Given the description of an element on the screen output the (x, y) to click on. 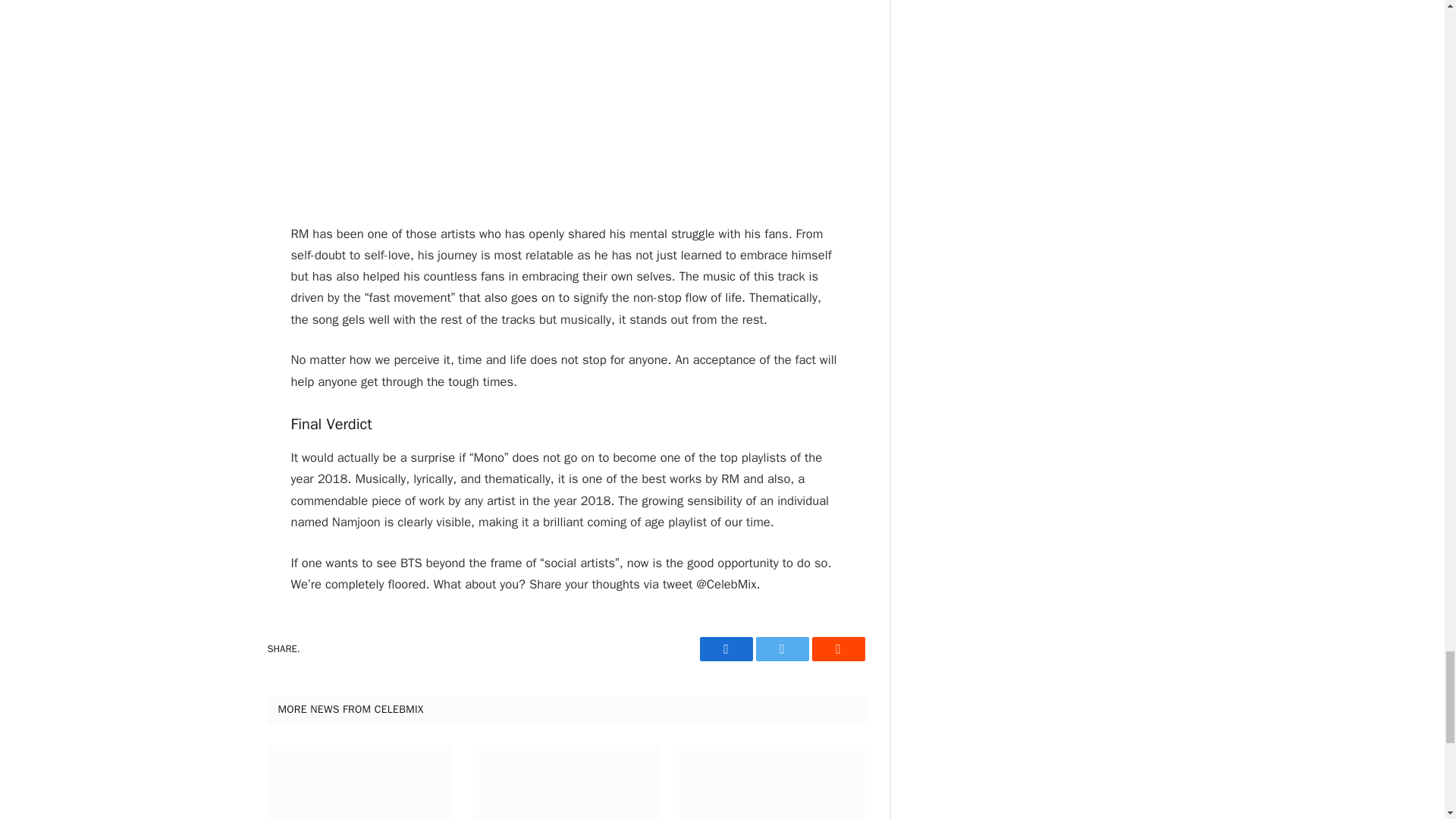
Reddit (837, 648)
Facebook (725, 648)
Twitter (781, 648)
